Given the description of an element on the screen output the (x, y) to click on. 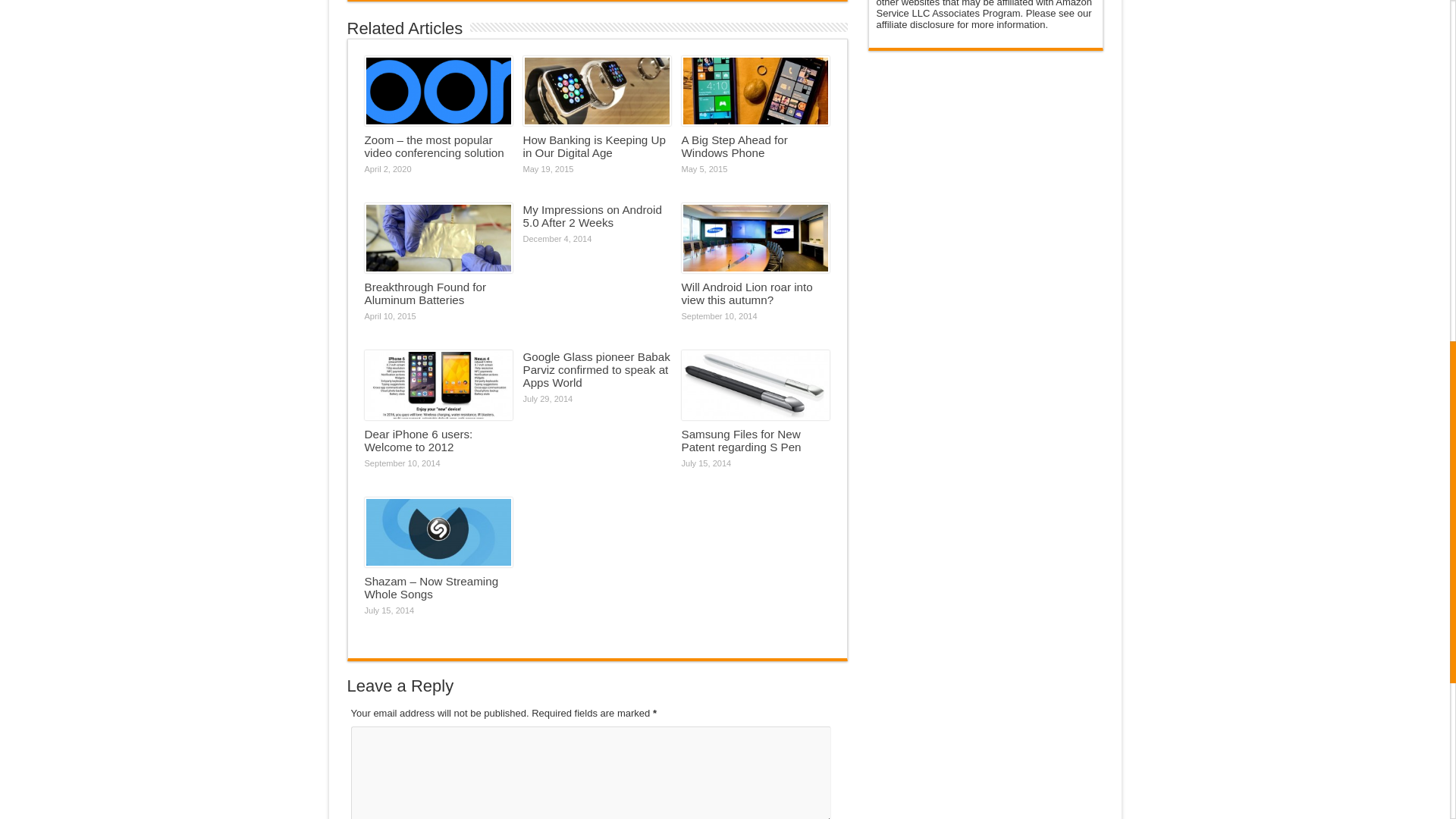
Permalink to Breakthrough Found for Aluminum Batteries (438, 237)
Permalink to How Banking is Keeping Up in Our Digital Age (596, 90)
Breakthrough Found for Aluminum Batteries (425, 293)
Will Android Lion roar into view this autumn? (746, 293)
Permalink to A Big Step Ahead for Windows Phone (734, 145)
Dear iPhone 6 users: Welcome to 2012 (417, 440)
Permalink to Breakthrough Found for Aluminum Batteries (425, 293)
Permalink to A Big Step Ahead for Windows Phone (754, 90)
How Banking is Keeping Up in Our Digital Age (593, 145)
A Big Step Ahead for Windows Phone (734, 145)
Samsung Files for New Patent regarding S Pen (740, 440)
My Impressions on Android 5.0 After 2 Weeks (592, 216)
Permalink to How Banking is Keeping Up in Our Digital Age (593, 145)
